Given the description of an element on the screen output the (x, y) to click on. 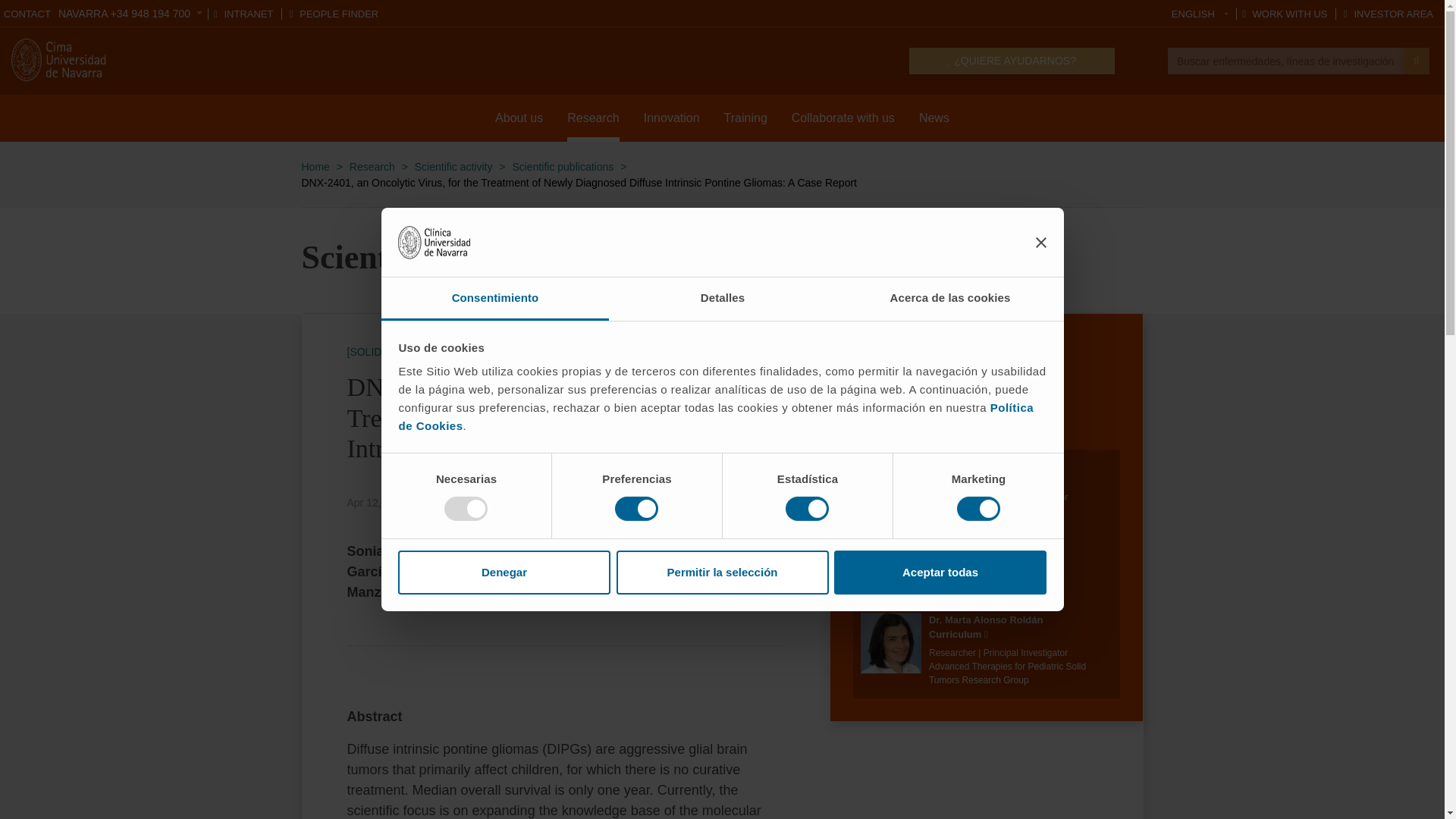
Cima Universidad de Navarra (60, 59)
on (807, 508)
INTRANET (243, 13)
Acerca de las cookies (948, 299)
WORK WITH US (1283, 13)
on (978, 508)
Consentimiento (494, 299)
on (636, 508)
PEOPLE FINDER (333, 13)
INVESTOR AREA (1387, 13)
on (465, 508)
Idioma (1200, 13)
NAVARRA (130, 13)
Detalles (721, 299)
